Given the description of an element on the screen output the (x, y) to click on. 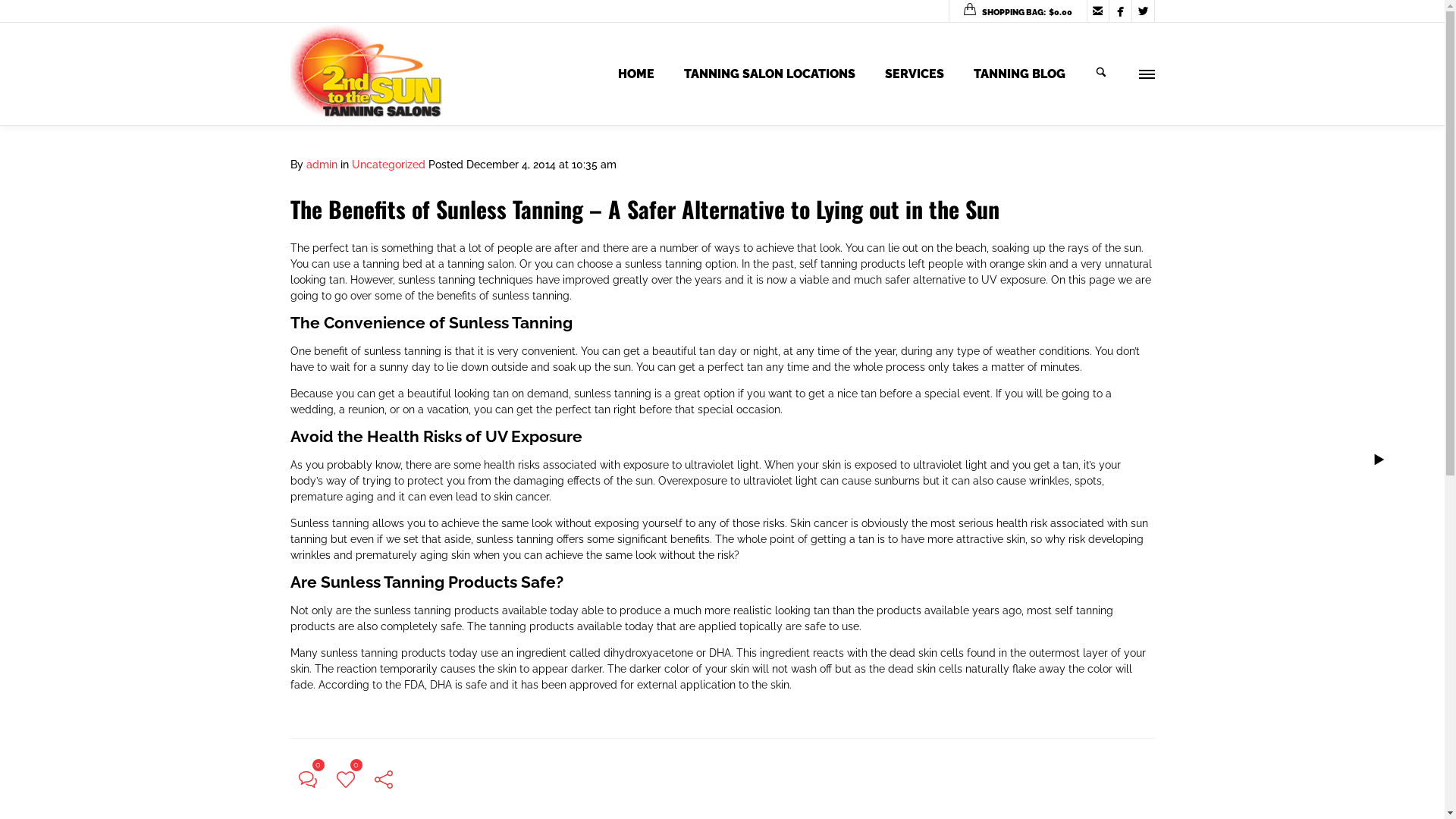
SERVICES Element type: text (913, 73)
Uncategorized Element type: text (388, 164)
TANNING SALON LOCATIONS Element type: text (769, 73)
  SHOPPING BAG:  $0.00 Element type: text (1017, 12)
TANNING BLOG Element type: text (1019, 73)
HOME Element type: text (635, 73)
Search Element type: text (40, 17)
  Element type: text (1102, 73)
0 Element type: text (306, 778)
0 Element type: text (344, 778)
admin Element type: text (321, 164)
